Given the description of an element on the screen output the (x, y) to click on. 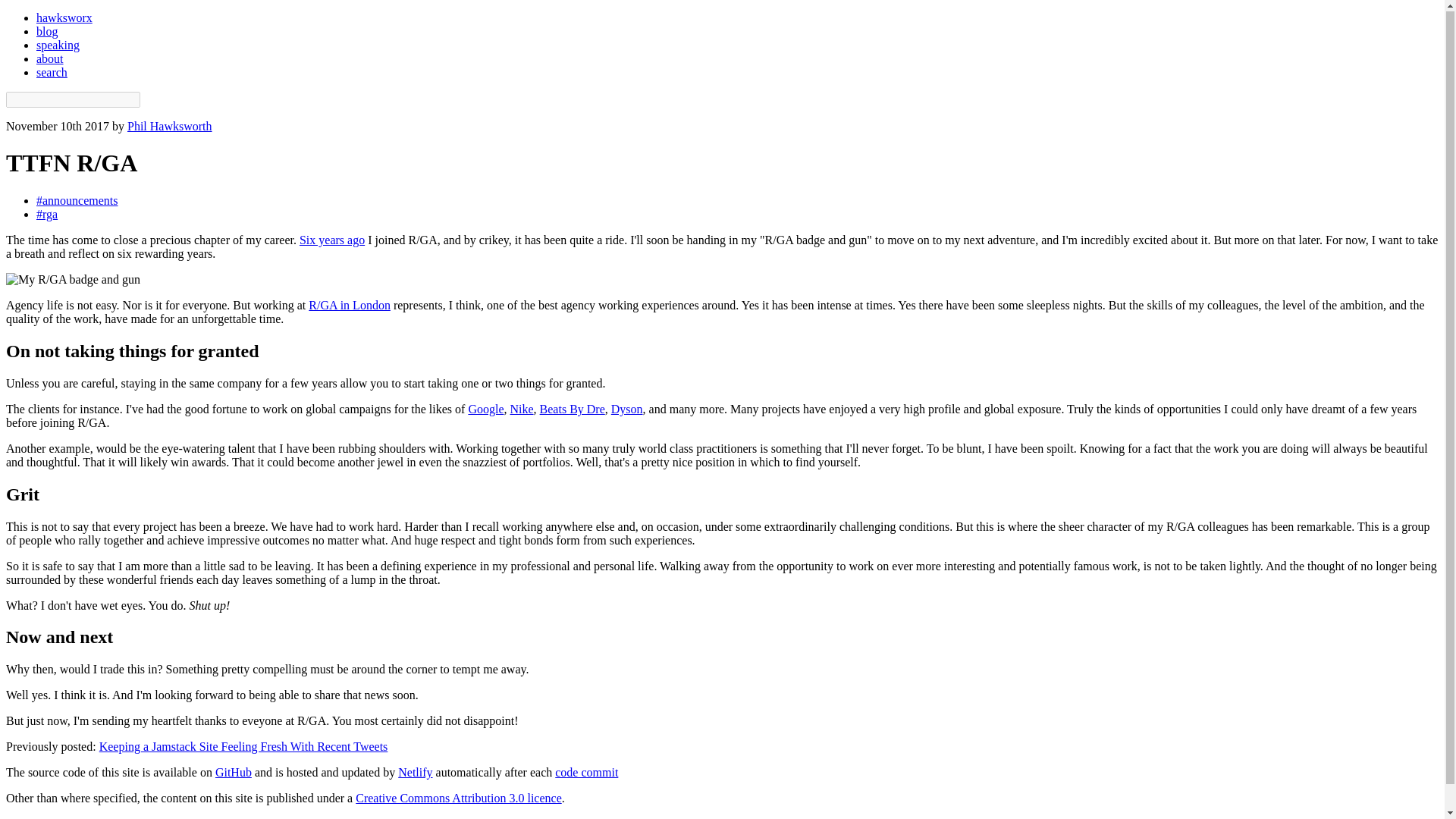
Creative Commons Attribution 3.0 licence (458, 797)
search (51, 72)
Keeping a Jamstack Site Feeling Fresh With Recent Tweets (243, 746)
Phil Hawksworth (170, 125)
Nike (520, 408)
Six years ago (332, 239)
Google (485, 408)
speaking (58, 44)
code commit (585, 771)
blog (47, 31)
